Given the description of an element on the screen output the (x, y) to click on. 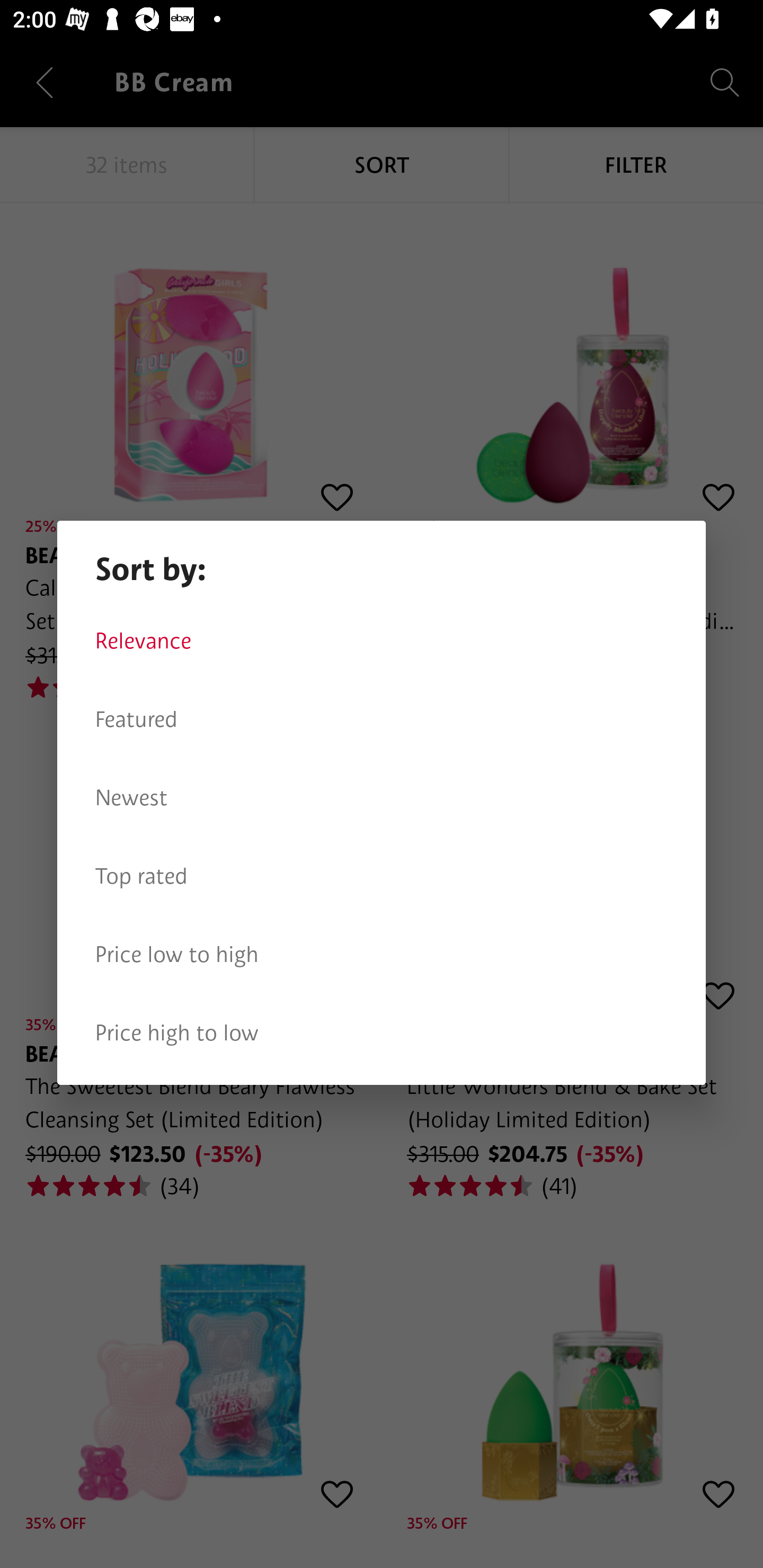
Relevance (381, 641)
Featured (381, 719)
Newest (381, 797)
Top rated (381, 876)
Price low to high (381, 954)
Price high to low (381, 1033)
